Given the description of an element on the screen output the (x, y) to click on. 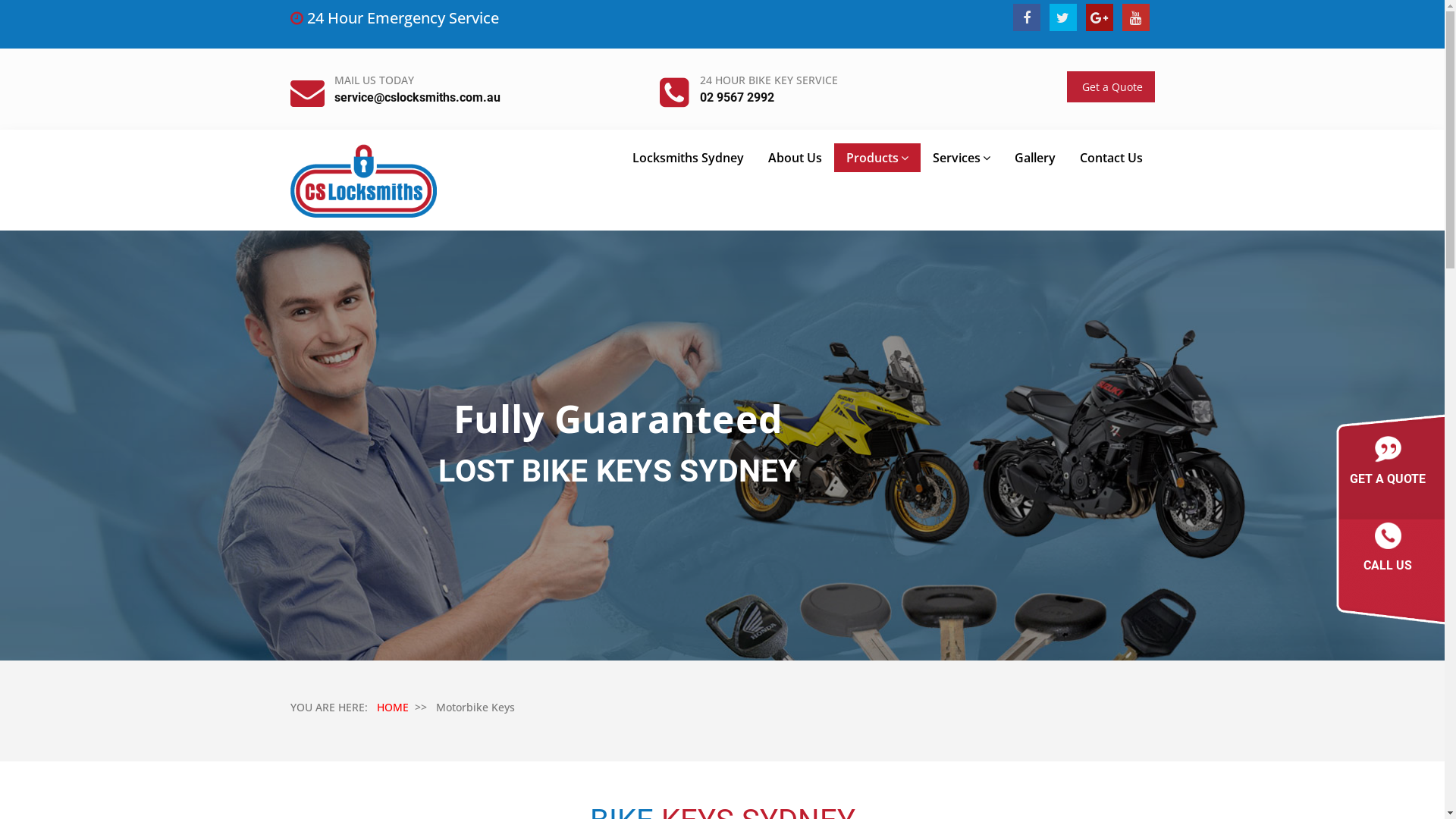
Services Element type: text (961, 157)
service@cslocksmiths.com.au Element type: text (417, 97)
02 9567 2992 Element type: text (736, 97)
Products Element type: text (877, 157)
MAIL US TODAY Element type: text (374, 79)
GET A QUOTE Element type: text (1387, 465)
24 HOUR BIKE KEY SERVICE Element type: text (768, 79)
Get a Quote Element type: text (1110, 86)
HOME Element type: text (391, 706)
Locksmiths Sydney Element type: text (688, 157)
Contact Us Element type: text (1110, 157)
About Us Element type: text (794, 157)
CALL US Element type: text (1387, 550)
Gallery Element type: text (1034, 157)
